Given the description of an element on the screen output the (x, y) to click on. 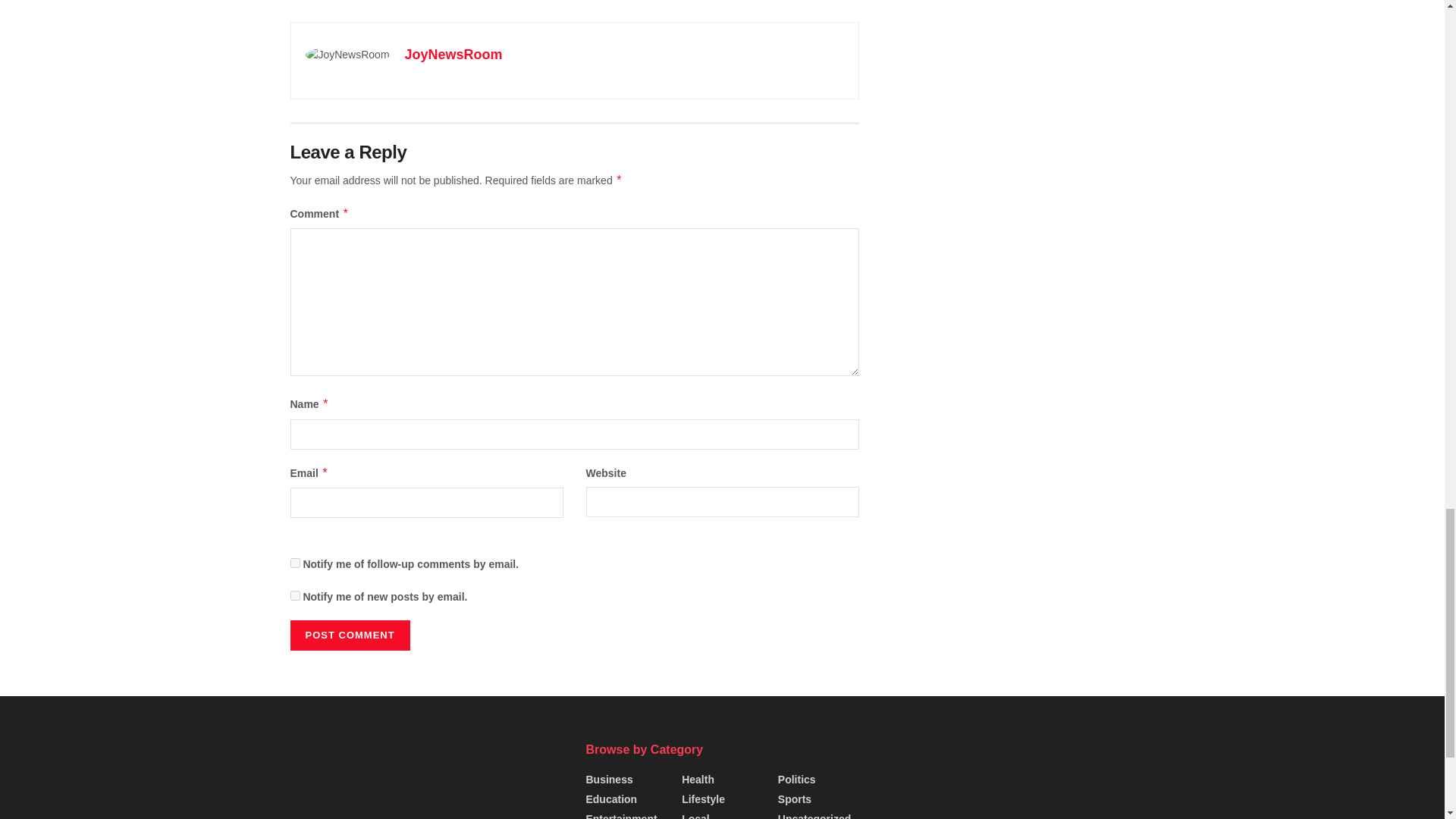
Post Comment (349, 634)
subscribe (294, 595)
subscribe (294, 562)
